Given the description of an element on the screen output the (x, y) to click on. 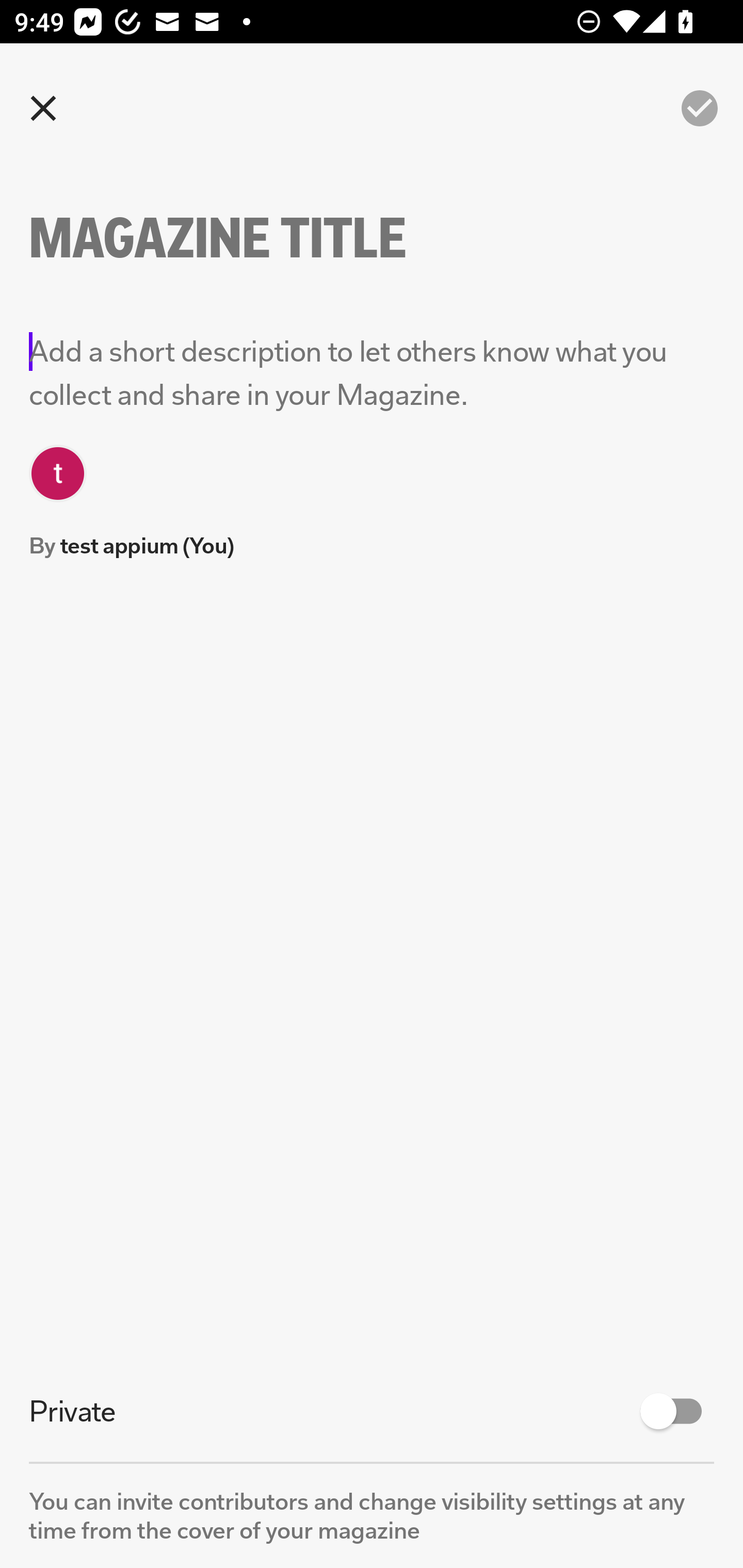
MAGAZINE TITLE (252, 238)
Private (371, 1411)
